Given the description of an element on the screen output the (x, y) to click on. 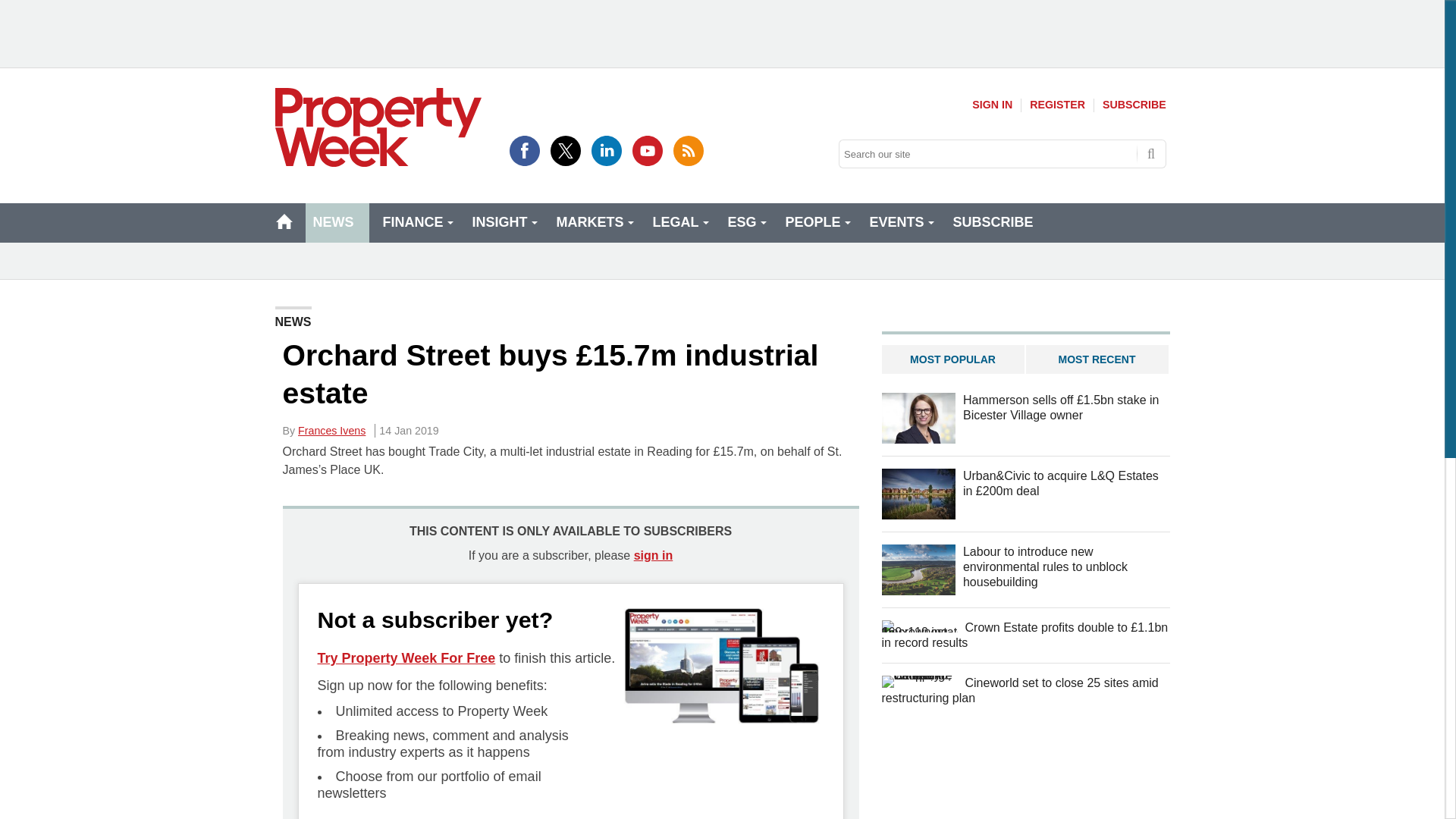
SUBSCRIBE (1134, 105)
SIGN IN (991, 105)
LinkedIn (606, 126)
NEWS (336, 222)
Posts by Frances Ivens (331, 430)
REGISTER (1056, 105)
Twitter (565, 126)
FINANCE (416, 222)
Cineworld set to close 25 sites amid restructuring plan (918, 681)
HOME (283, 221)
YouTube (646, 126)
RSS (687, 126)
Search (1151, 153)
Property Week (377, 127)
